Given the description of an element on the screen output the (x, y) to click on. 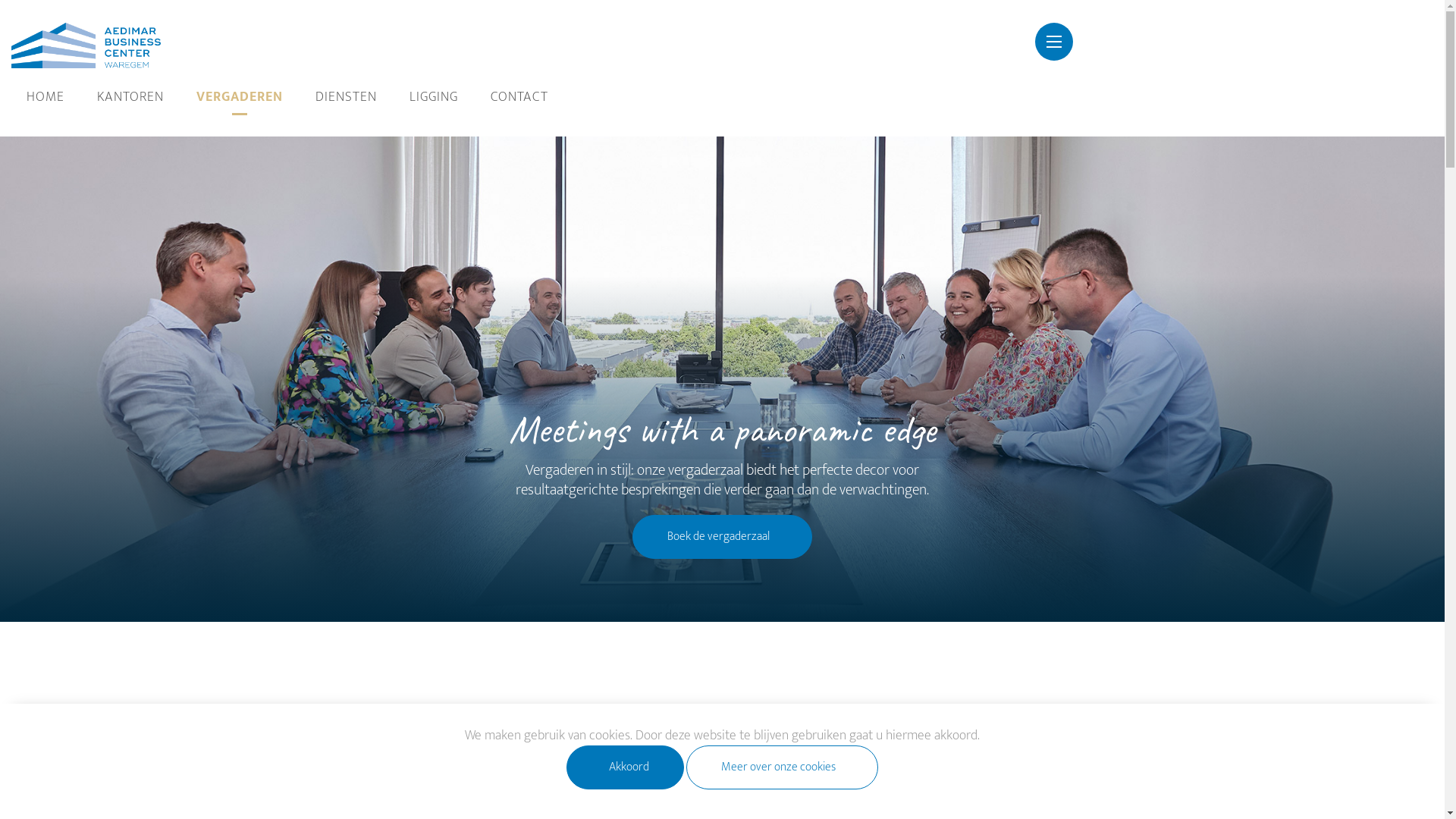
Akkoord Element type: text (625, 767)
Boek de vergaderzaal Element type: text (722, 536)
LIGGING Element type: text (433, 97)
DIENSTEN Element type: text (346, 97)
VERGADEREN Element type: text (239, 97)
HOME Element type: text (45, 97)
CONTACT Element type: text (519, 97)
KANTOREN Element type: text (129, 97)
Meer over onze cookies Element type: text (782, 767)
